Given the description of an element on the screen output the (x, y) to click on. 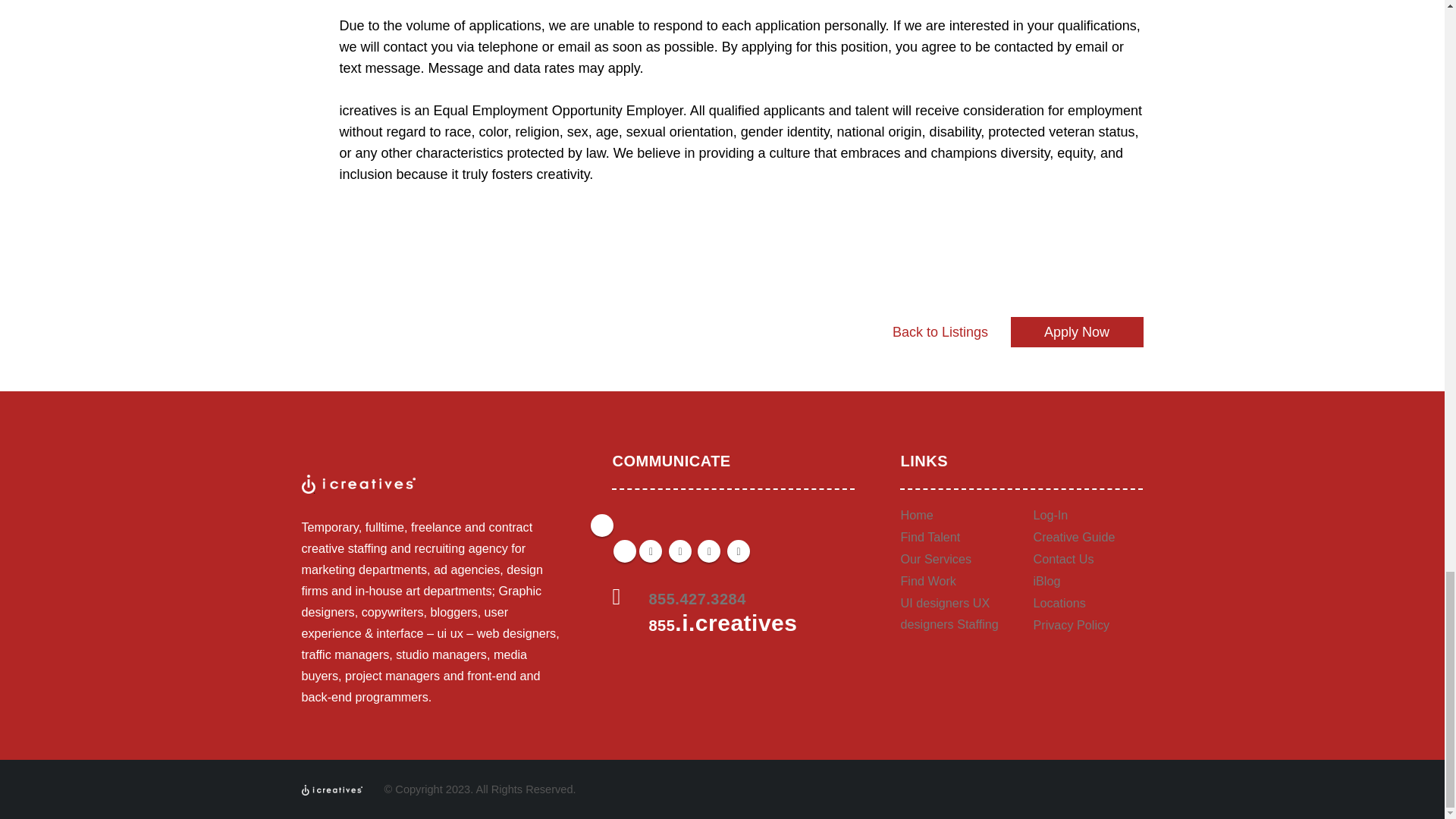
Back to Listings (939, 331)
Apply Now (1076, 331)
i creatives - Creative Staffing On Demand (331, 788)
